Given the description of an element on the screen output the (x, y) to click on. 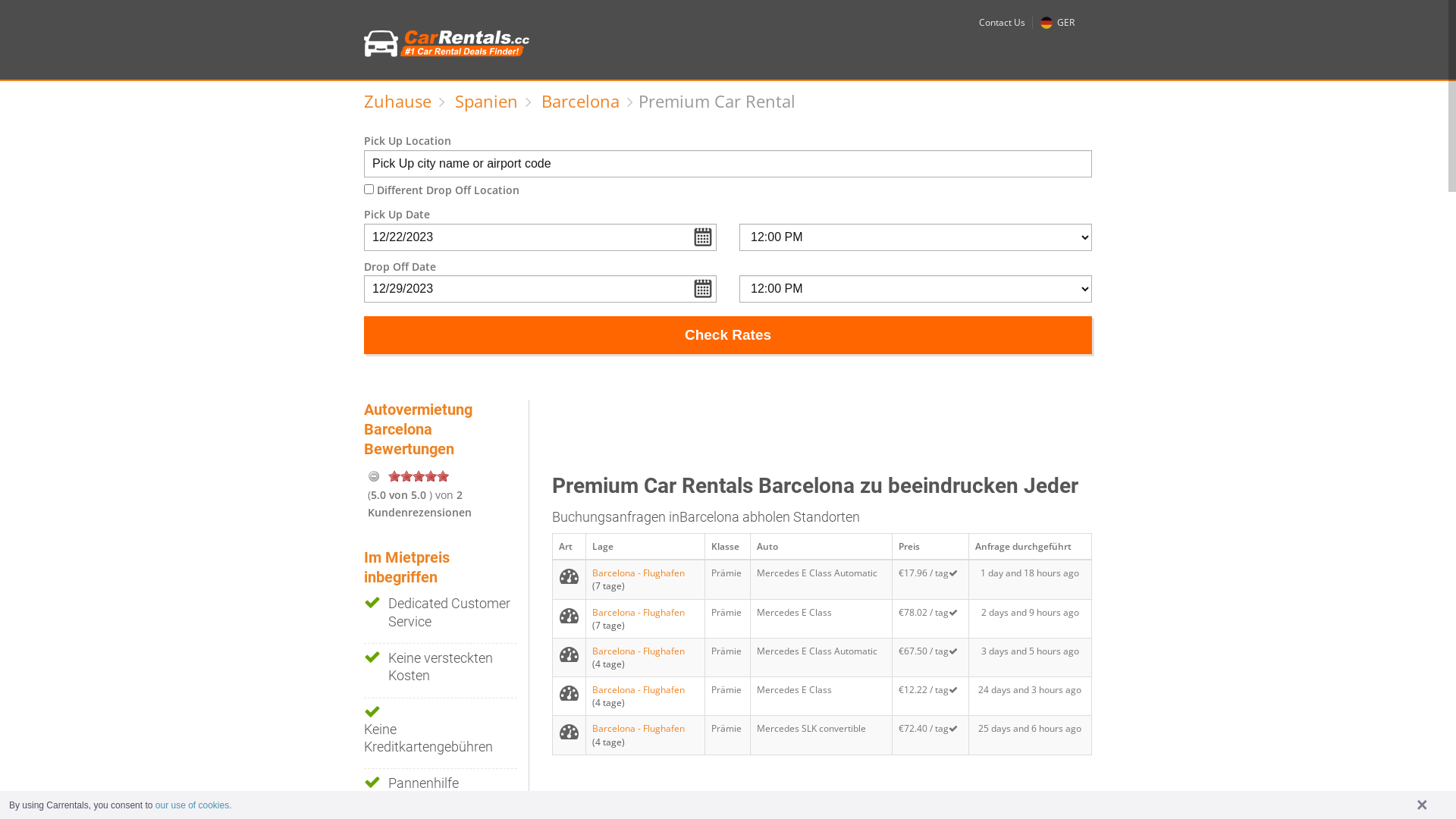
de Element type: hover (1046, 22)
Spanien Element type: text (486, 100)
on Element type: text (430, 475)
on Element type: text (406, 475)
Zuhause Element type: text (397, 100)
Barcelona - Flughafen Element type: text (638, 611)
Cancel Rating Element type: hover (373, 475)
Barcelona - Flughafen Element type: text (638, 650)
GER Element type: text (1057, 21)
our use of cookies. Element type: text (193, 805)
Check Rates Element type: text (728, 335)
Barcelona - Flughafen Element type: text (638, 572)
Barcelona - Flughafen Element type: text (638, 727)
Barcelona - Flughafen Element type: text (638, 689)
on Element type: text (442, 475)
Barcelona Element type: text (580, 100)
on Element type: text (418, 475)
Contact Us Element type: text (1002, 21)
on Element type: text (394, 475)
Advertisement Element type: hover (828, 433)
